Given the description of an element on the screen output the (x, y) to click on. 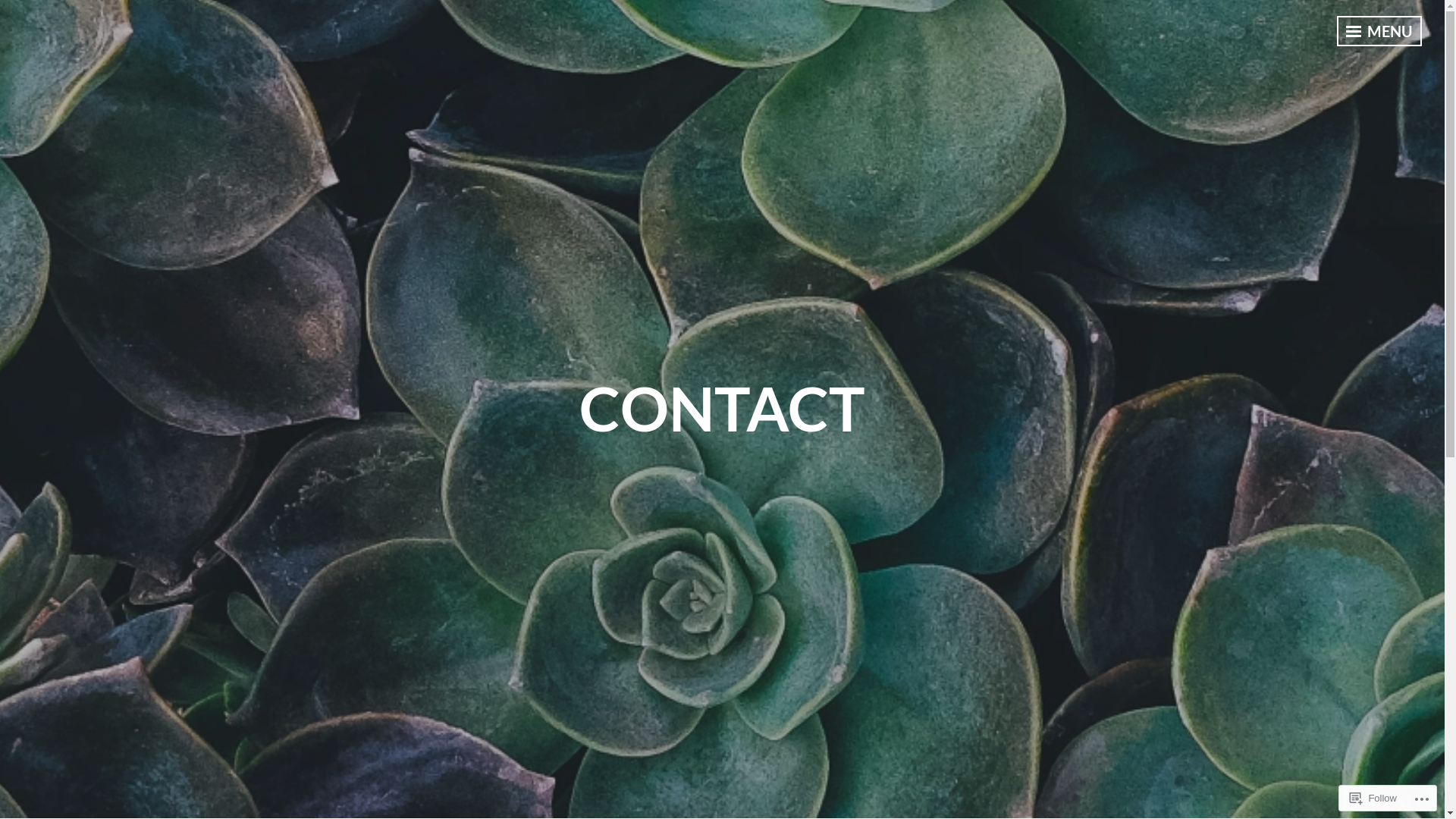
MENU Element type: text (1378, 30)
Follow Element type: text (1372, 797)
